Given the description of an element on the screen output the (x, y) to click on. 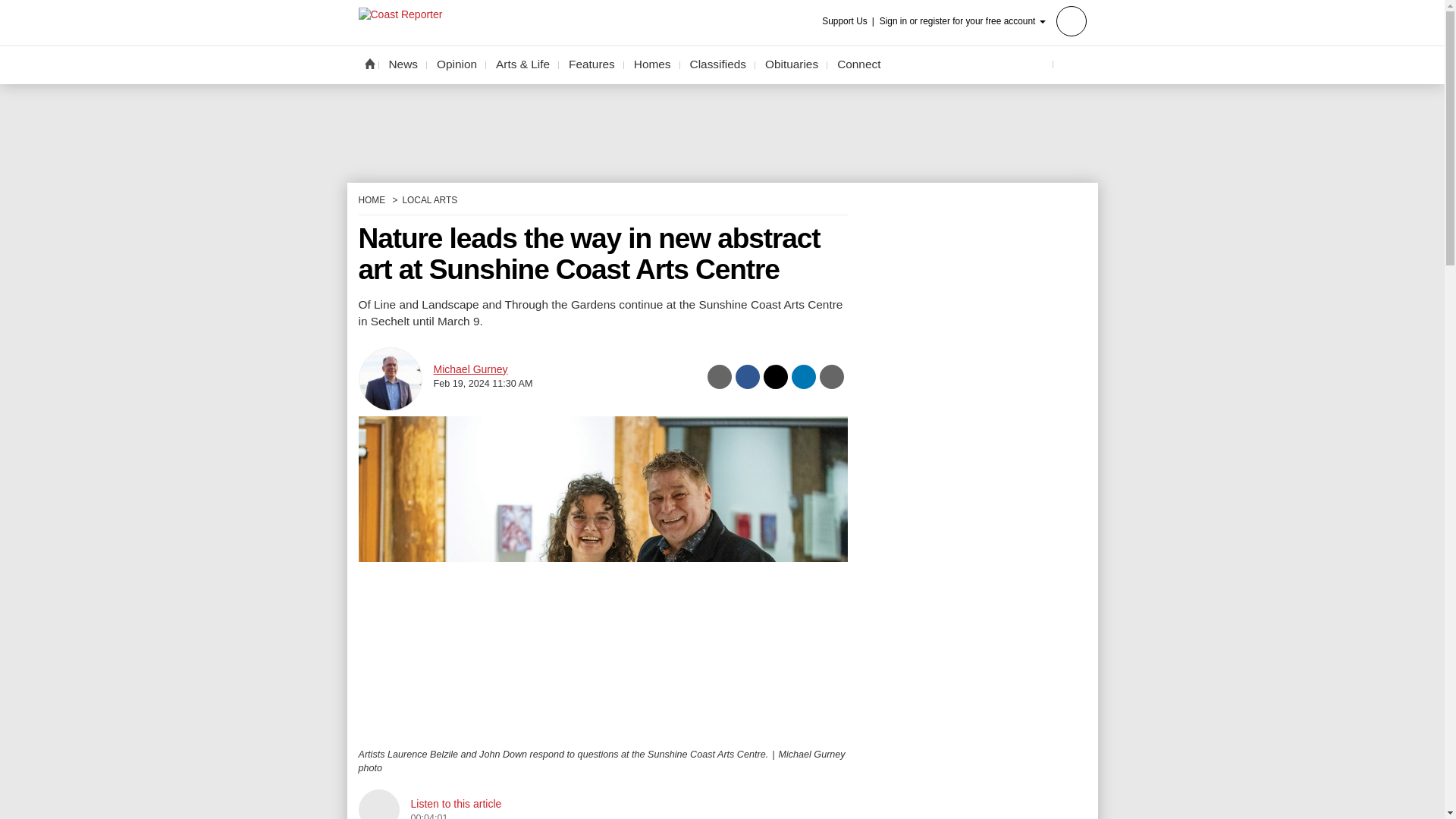
Support Us (849, 21)
News (403, 64)
Sign in or register for your free account (982, 20)
Opinion (456, 64)
Home (368, 63)
